Given the description of an element on the screen output the (x, y) to click on. 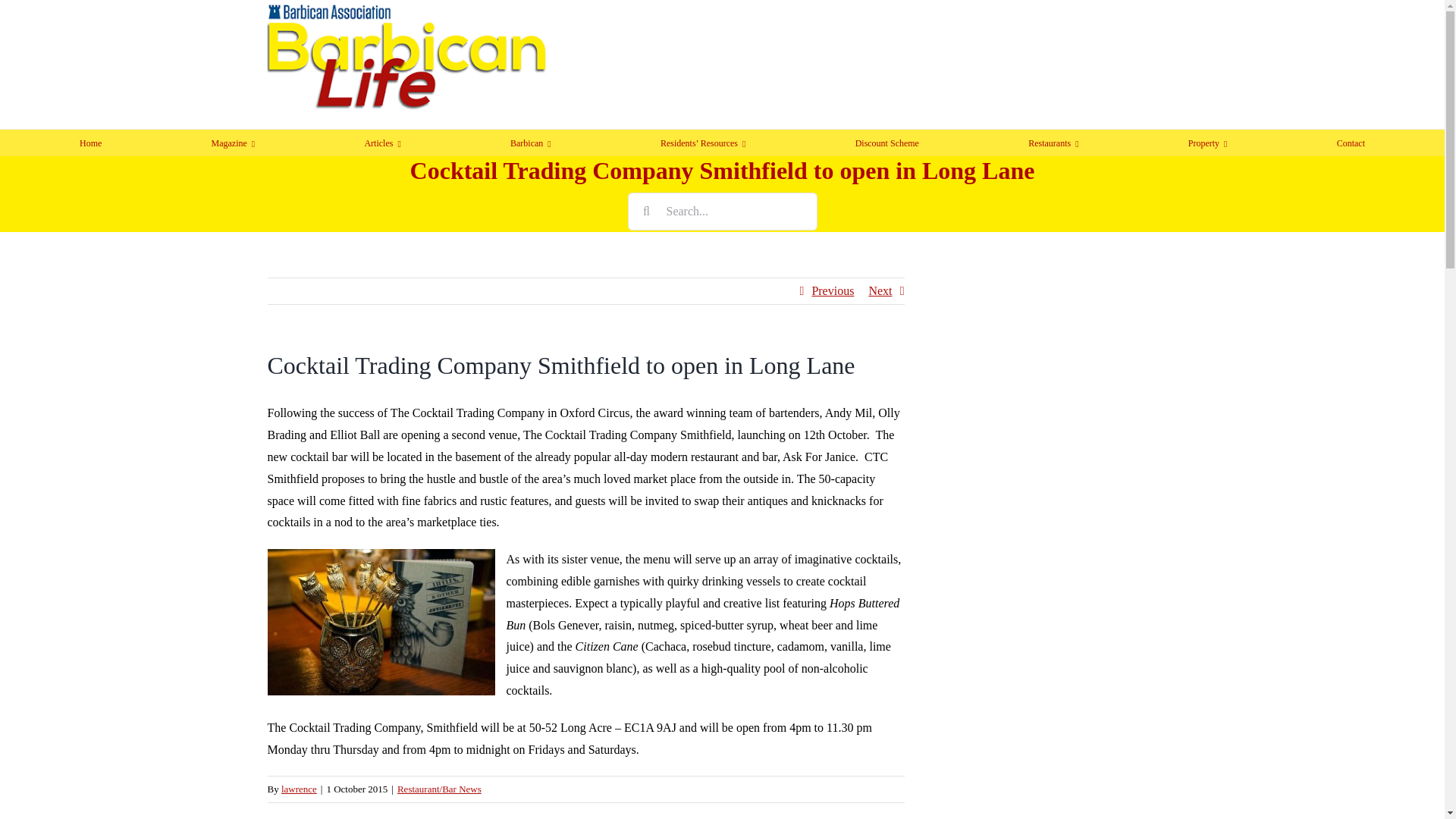
Posts by lawrence (299, 788)
